Given the description of an element on the screen output the (x, y) to click on. 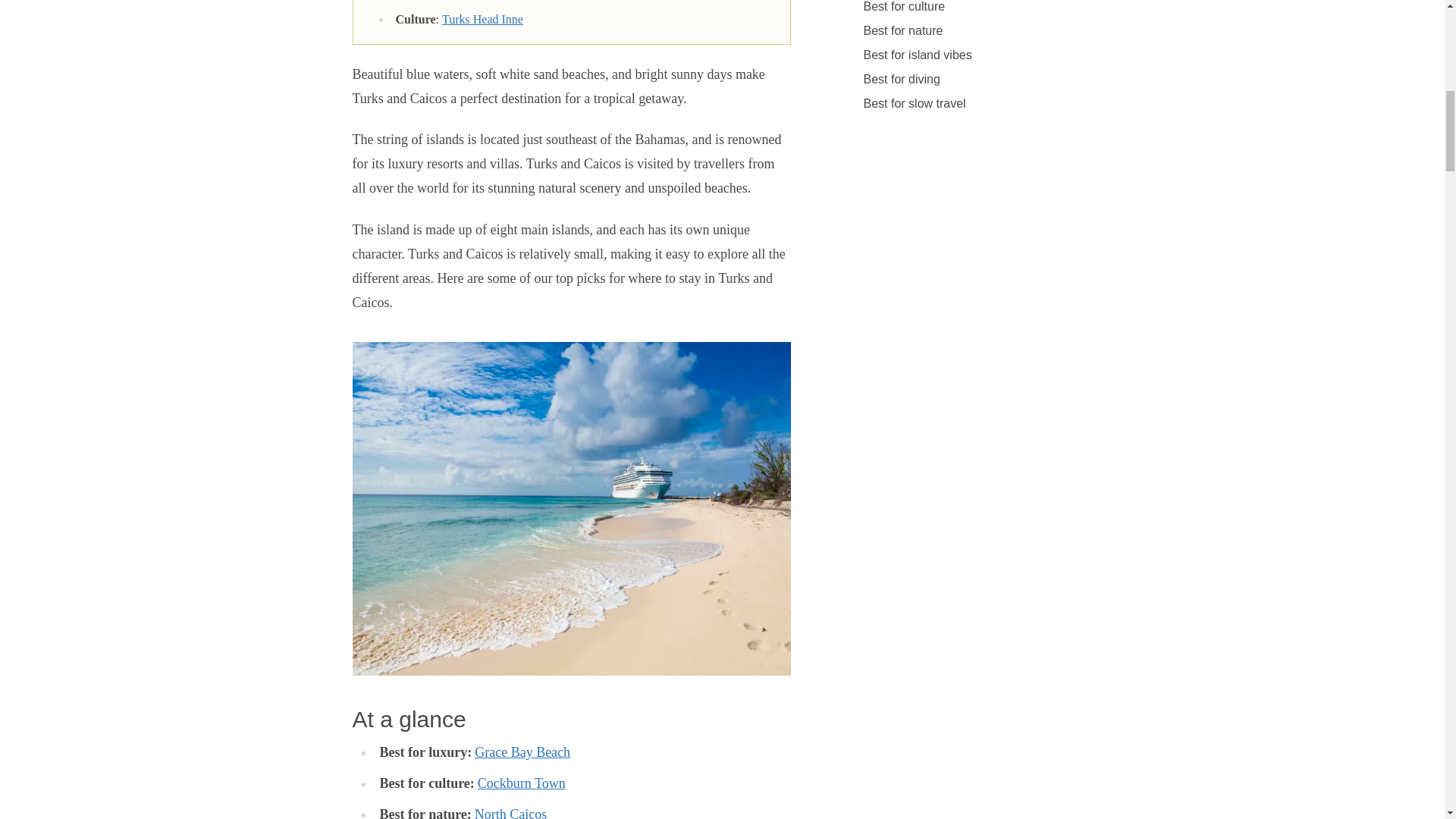
Best for diving (900, 79)
Best for culture (903, 9)
Grace Bay Beach (522, 752)
Turks Head Inne (482, 19)
Best for slow travel (914, 103)
Cockburn Town (521, 783)
Best for nature (903, 30)
Best for island vibes (916, 55)
North Caicos (510, 812)
